Given the description of an element on the screen output the (x, y) to click on. 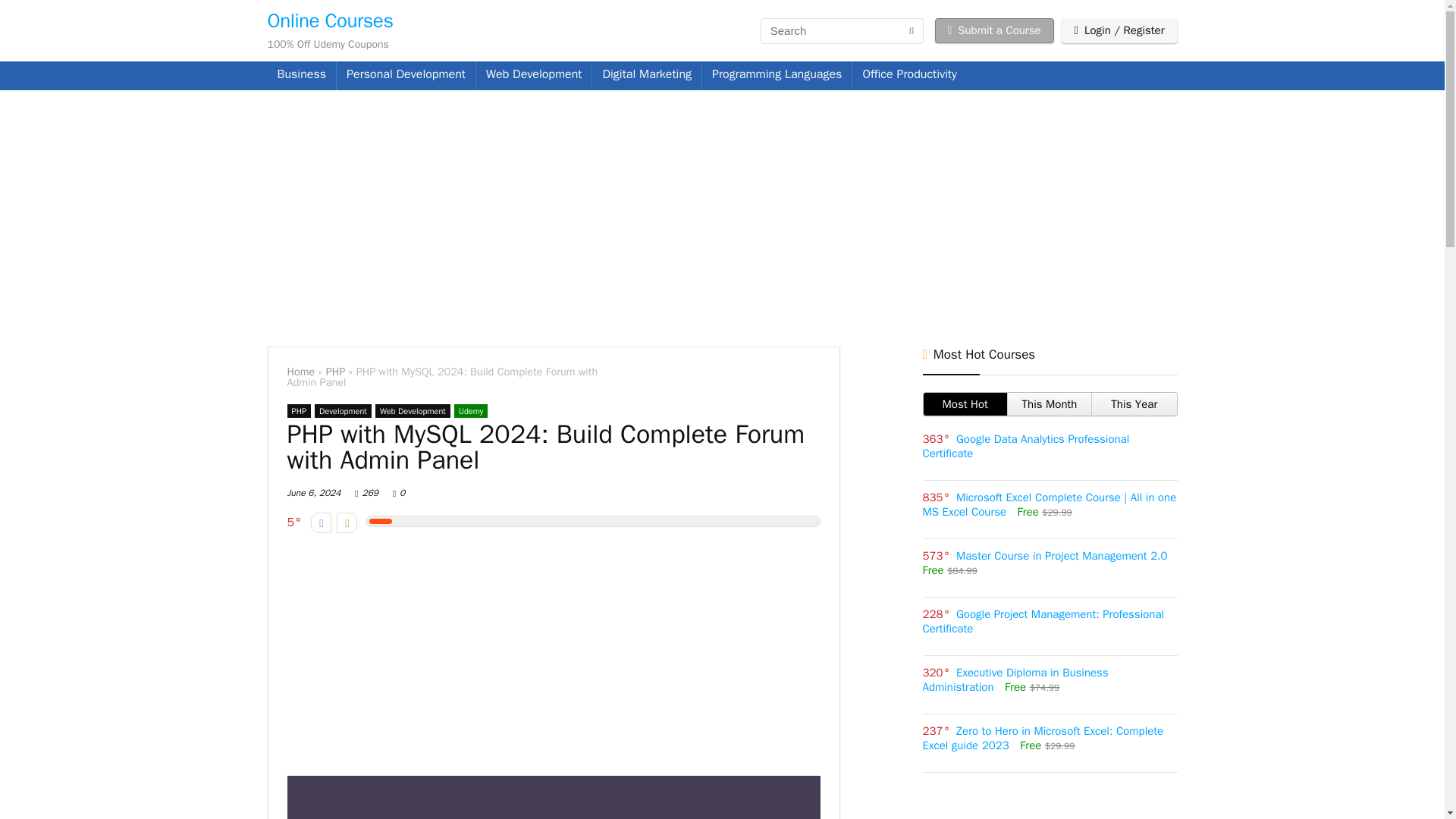
Business (301, 75)
Office Productivity (908, 75)
Web Development (412, 410)
Home (300, 371)
Google Project Management: Professional Certificate (1042, 621)
View all posts in PHP (298, 410)
Personal Development (406, 75)
Web Development (534, 75)
Google Data Analytics Professional Certificate (1025, 446)
View all posts in Udemy (470, 410)
Programming Languages (776, 75)
Advertisement (552, 658)
Master Course in Project Management 2.0 (1061, 555)
Digital Marketing (646, 75)
Vote down (321, 522)
